Given the description of an element on the screen output the (x, y) to click on. 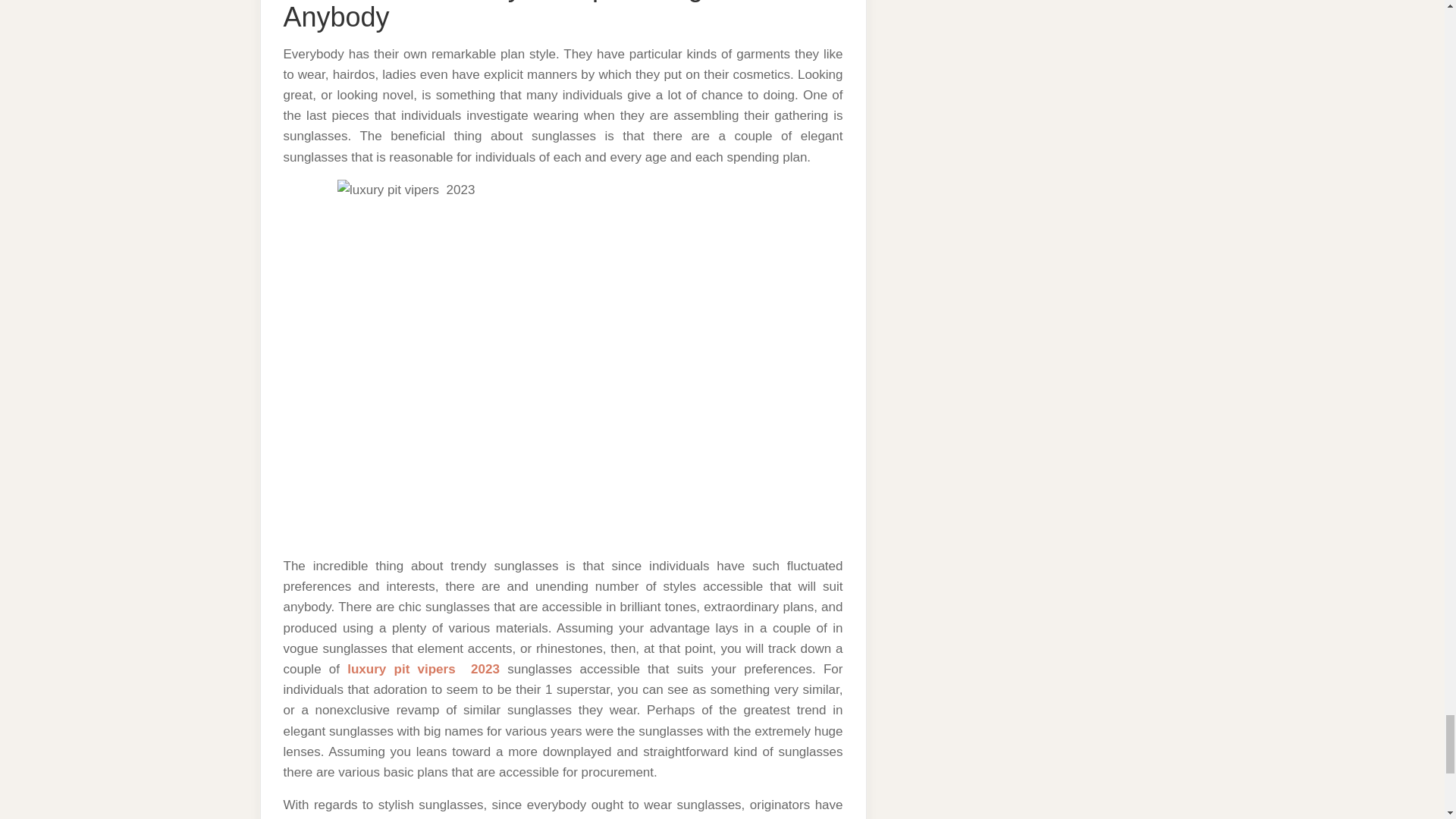
luxury pit vipers  2023 (423, 668)
Fashionable Luxury Pit Viper Sunglasses for Anybody (552, 16)
